Given the description of an element on the screen output the (x, y) to click on. 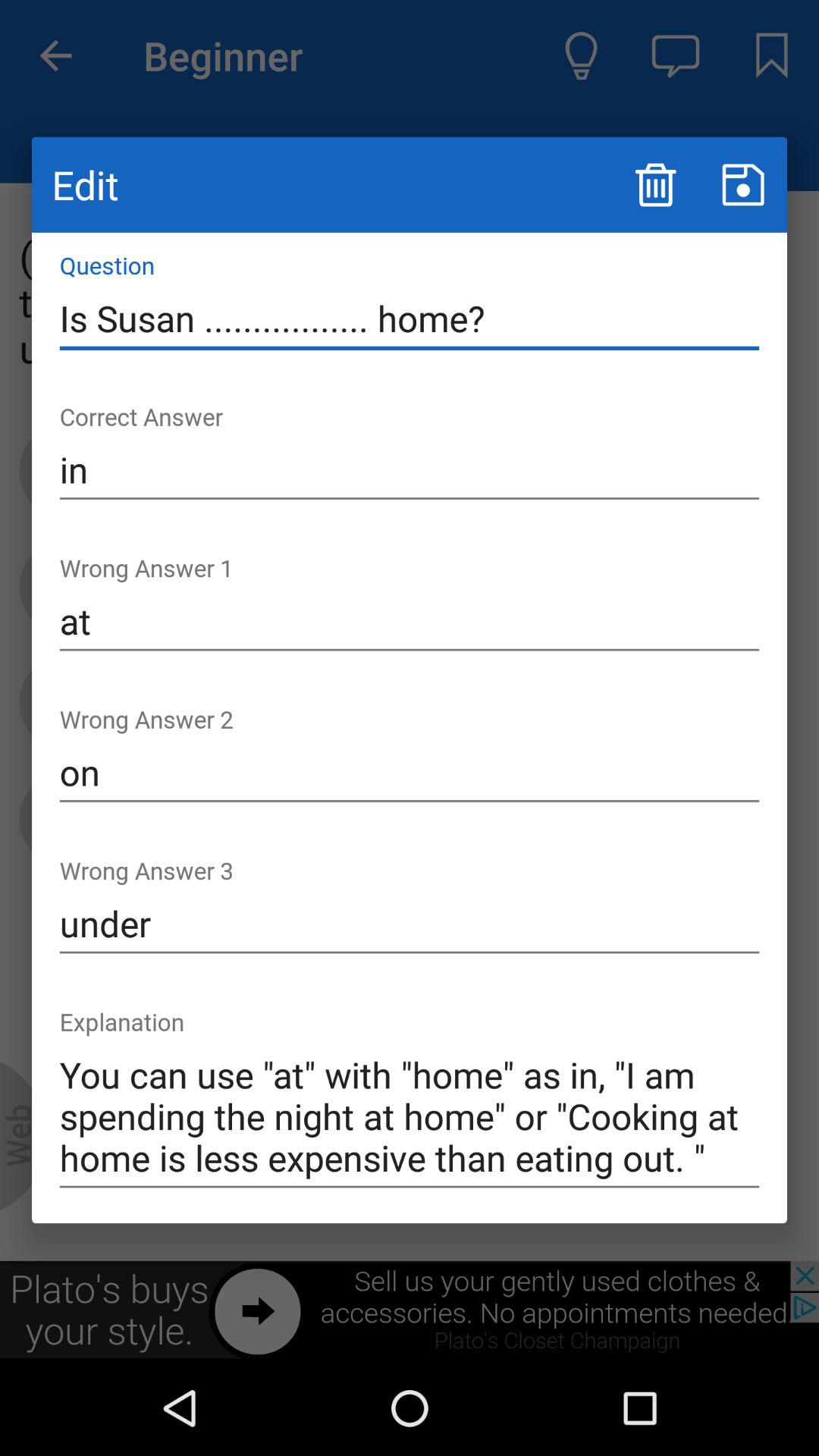
click icon next to the edit item (655, 184)
